Given the description of an element on the screen output the (x, y) to click on. 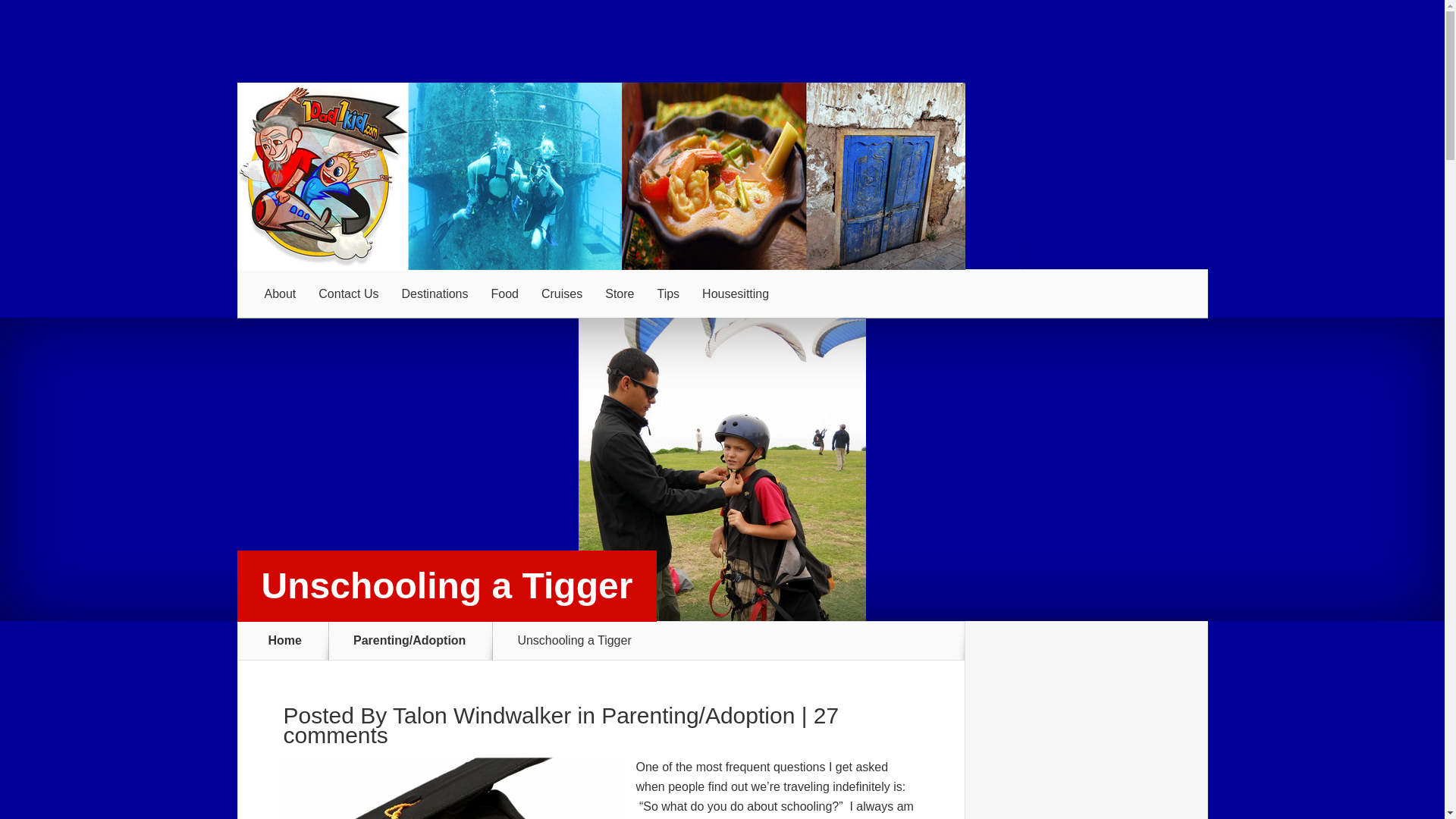
Search (1230, 54)
Pin (721, 174)
Mail (1010, 174)
Tweet (431, 174)
Snorkeling in Cozumel (166, 694)
education (185, 341)
Share (143, 174)
